Given the description of an element on the screen output the (x, y) to click on. 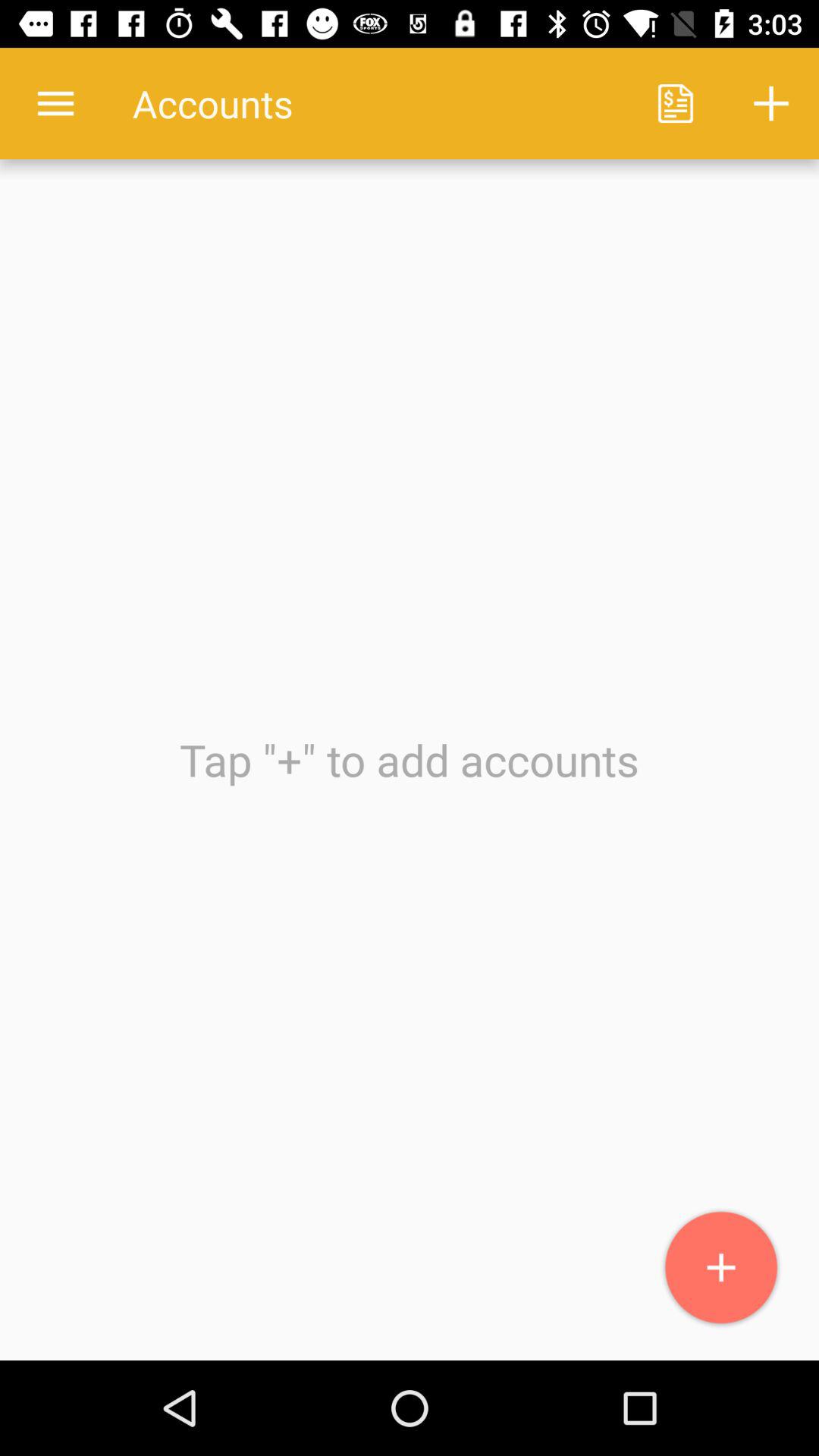
click the icon next to accounts (675, 103)
